Given the description of an element on the screen output the (x, y) to click on. 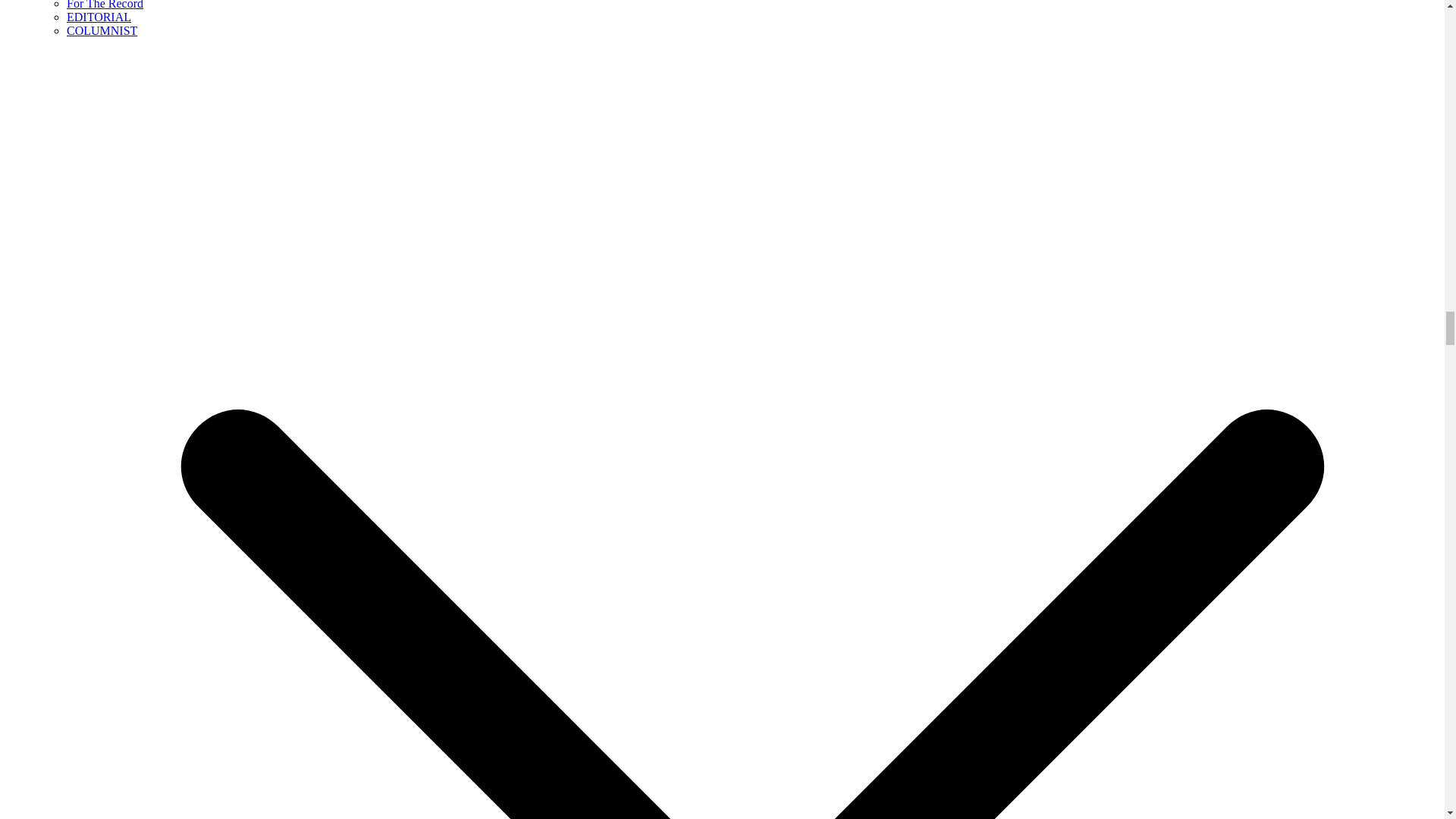
COLUMNIST (101, 30)
EDITORIAL (98, 16)
For The Record (104, 4)
